Given the description of an element on the screen output the (x, y) to click on. 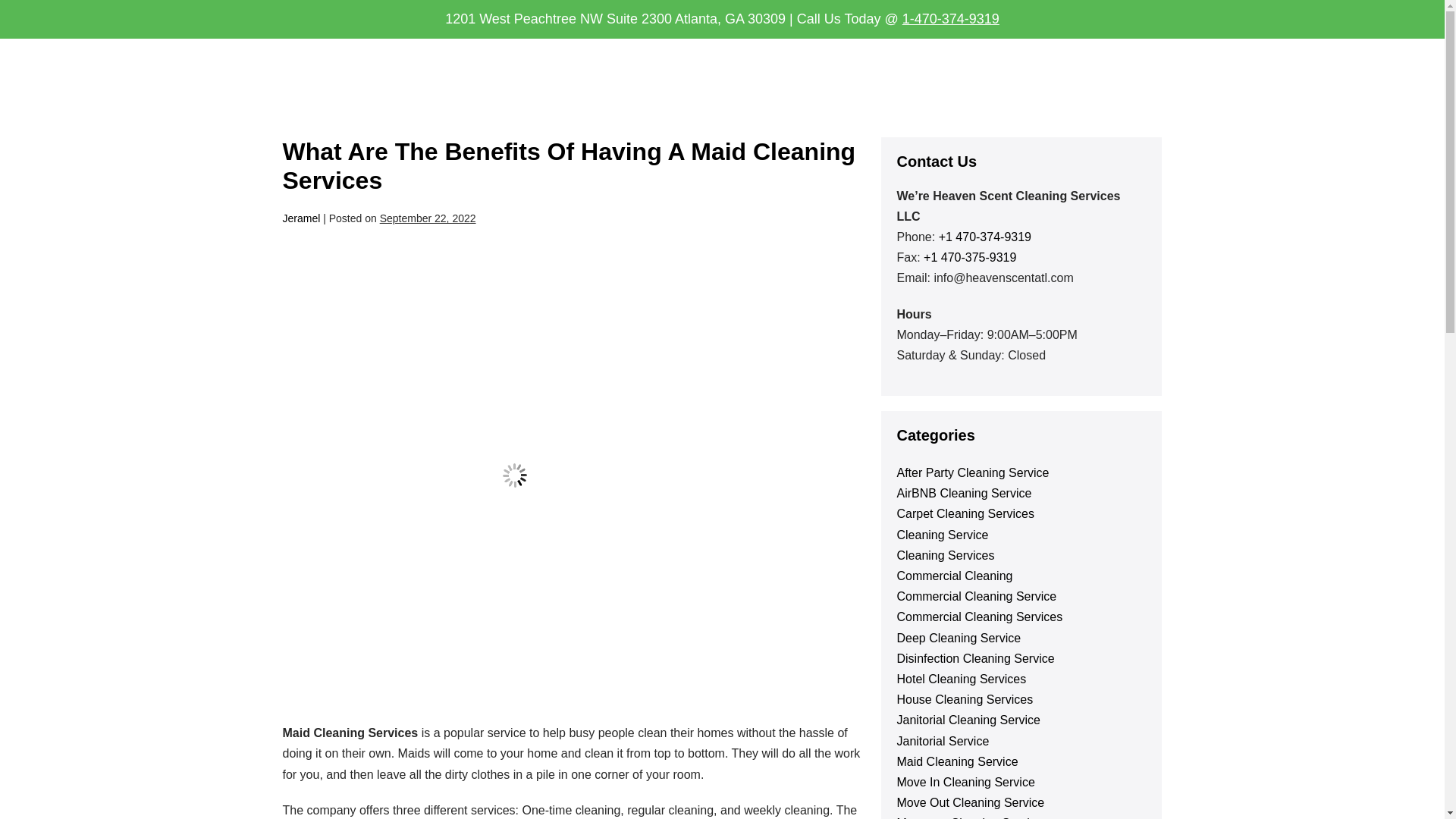
View all posts by Jeramel (301, 218)
1-470-374-9319 (950, 18)
Jeramel (301, 218)
